Given the description of an element on the screen output the (x, y) to click on. 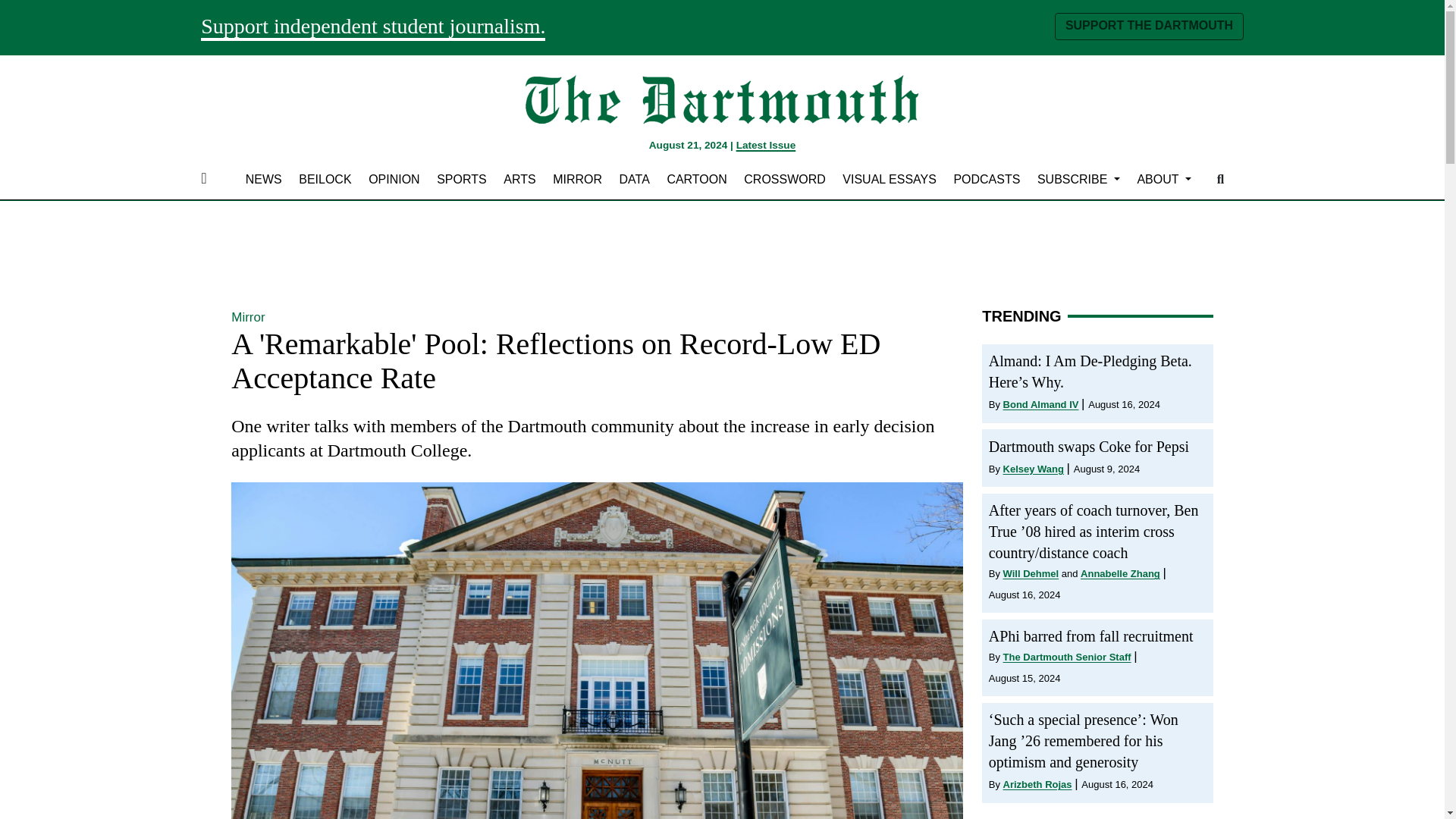
Beilock (325, 179)
CARTOON (697, 179)
News (263, 179)
Arts (519, 179)
PODCASTS (986, 179)
Data (634, 179)
VISUAL ESSAYS (889, 179)
SUBSCRIBE (1077, 179)
ABOUT (1163, 179)
SUPPORT THE DARTMOUTH (1148, 26)
